Given the description of an element on the screen output the (x, y) to click on. 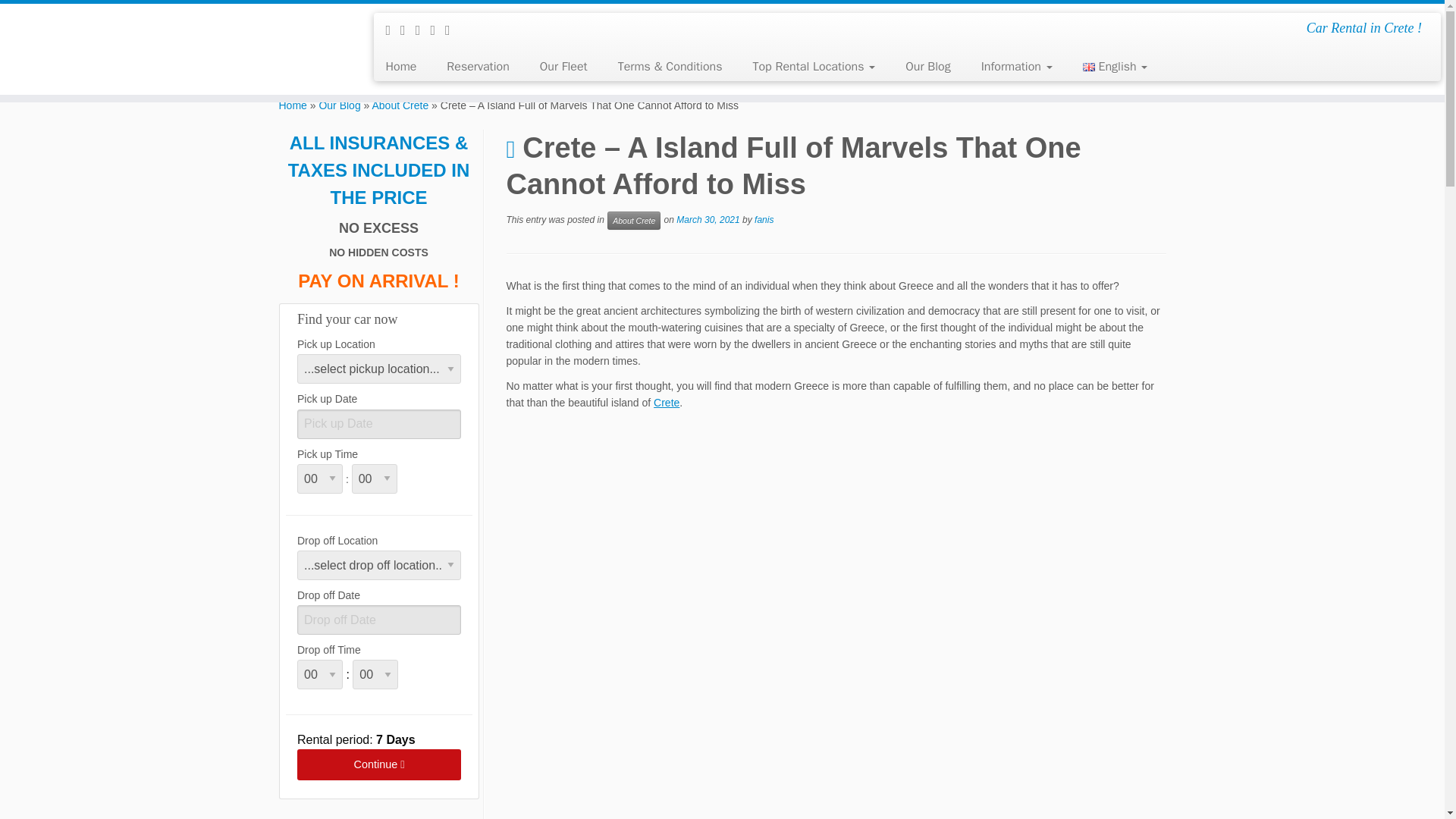
Our Fleet (563, 67)
Follow us on Twitter (407, 29)
Our Blog (927, 67)
Follow us on YouTube (437, 29)
English (1107, 67)
Home (293, 105)
E-mail (392, 29)
Top Rental Locations (812, 67)
Home (405, 67)
About Crete (399, 105)
Rental Locations (812, 67)
Follow us on Facebook (422, 29)
Reservation (477, 67)
Our Blog (338, 105)
Call us now! (452, 29)
